Given the description of an element on the screen output the (x, y) to click on. 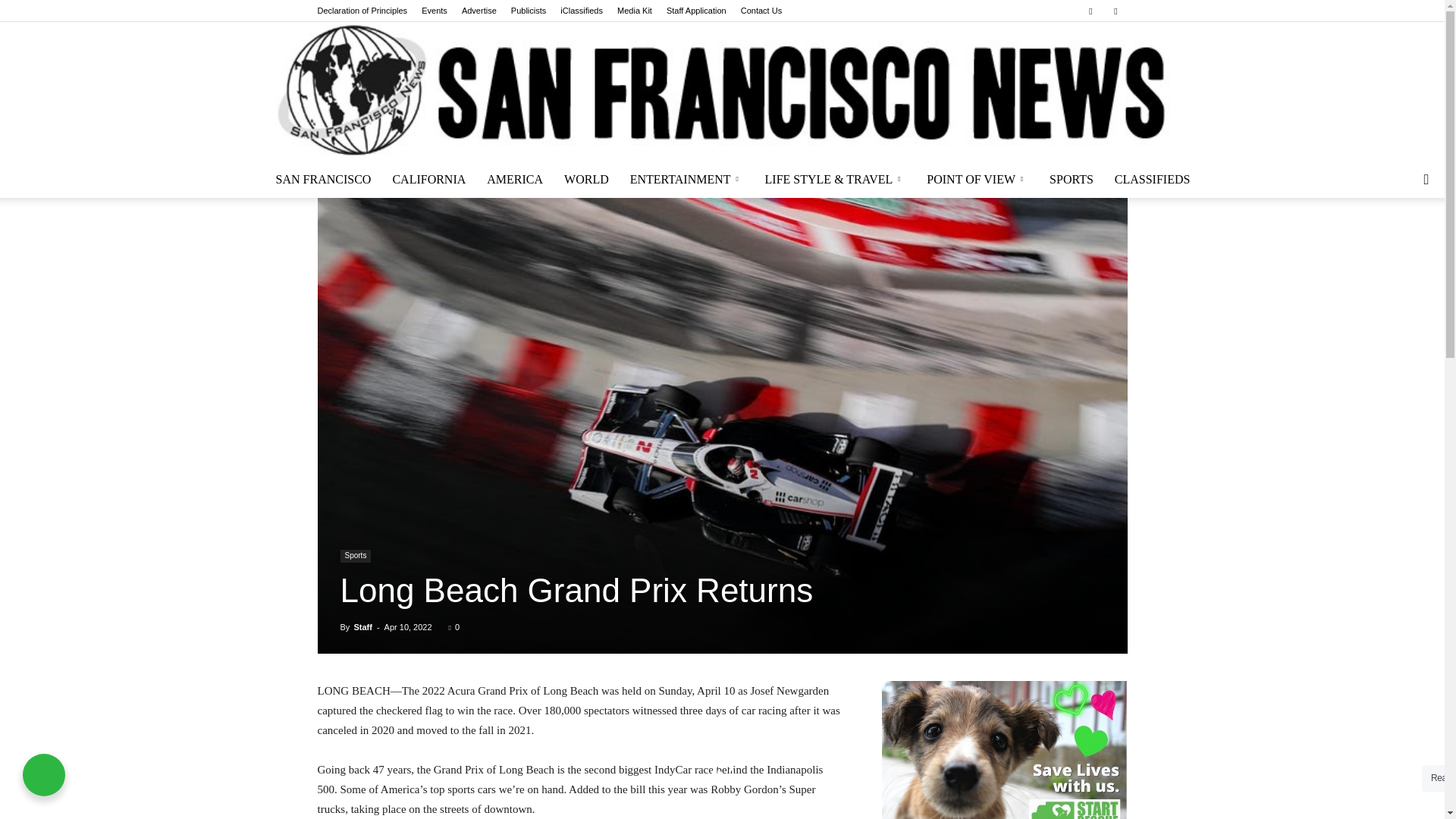
Events (434, 10)
Facebook (1090, 10)
Publicists (528, 10)
Advertise (478, 10)
Twitter (1114, 10)
Staff Application (696, 10)
iClassifieds (581, 10)
Contact Us (761, 10)
Media Kit (634, 10)
Declaration of Principles (362, 10)
